Given the description of an element on the screen output the (x, y) to click on. 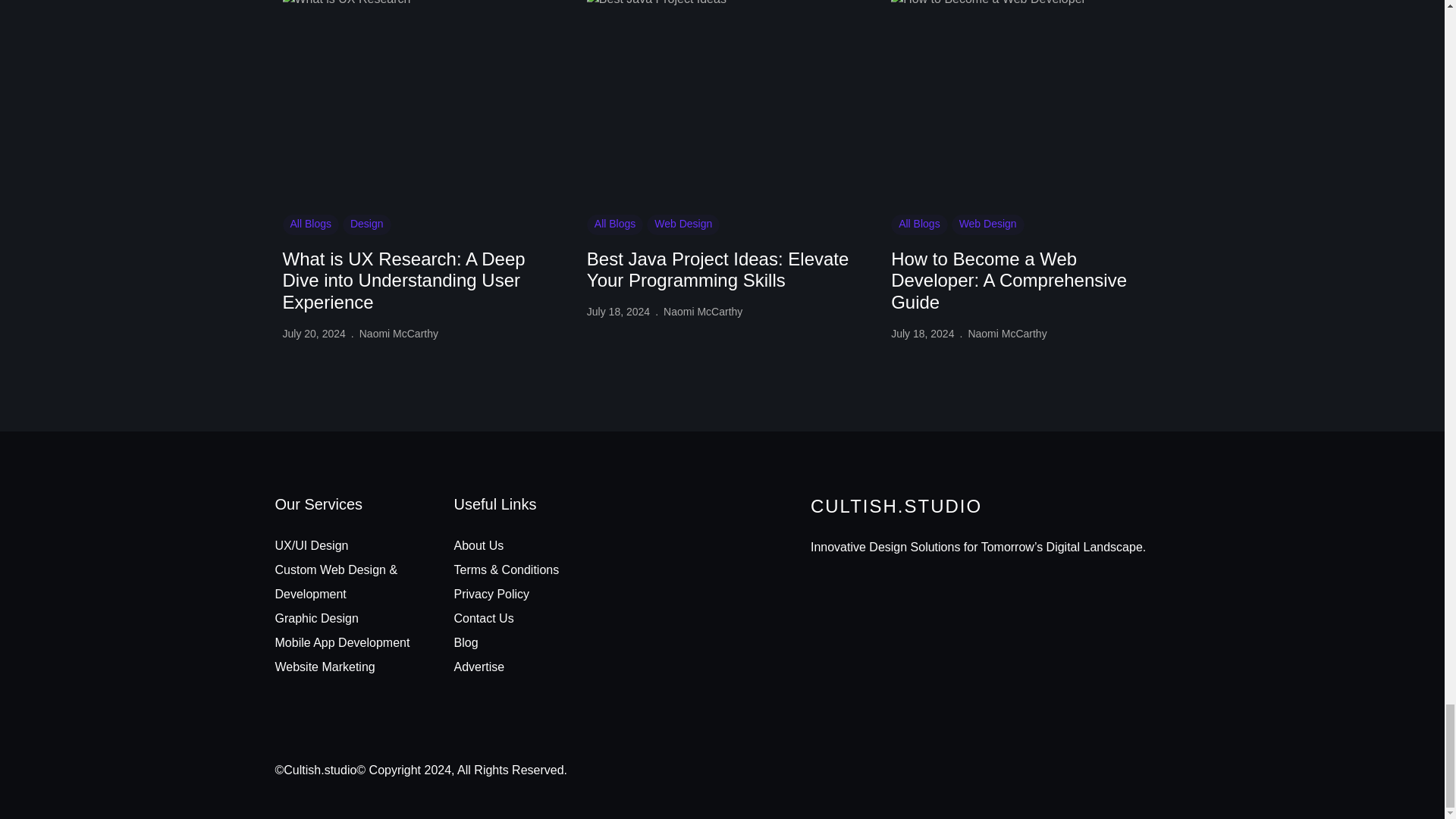
Web Design (682, 224)
All Blogs (614, 224)
All Blogs (919, 224)
How to Become a Web Developer: A Comprehensive Guide (1026, 280)
Best Java Project Ideas: Elevate Your Programming Skills (721, 270)
Web Design (988, 224)
All Blogs (309, 224)
Design (366, 224)
